Given the description of an element on the screen output the (x, y) to click on. 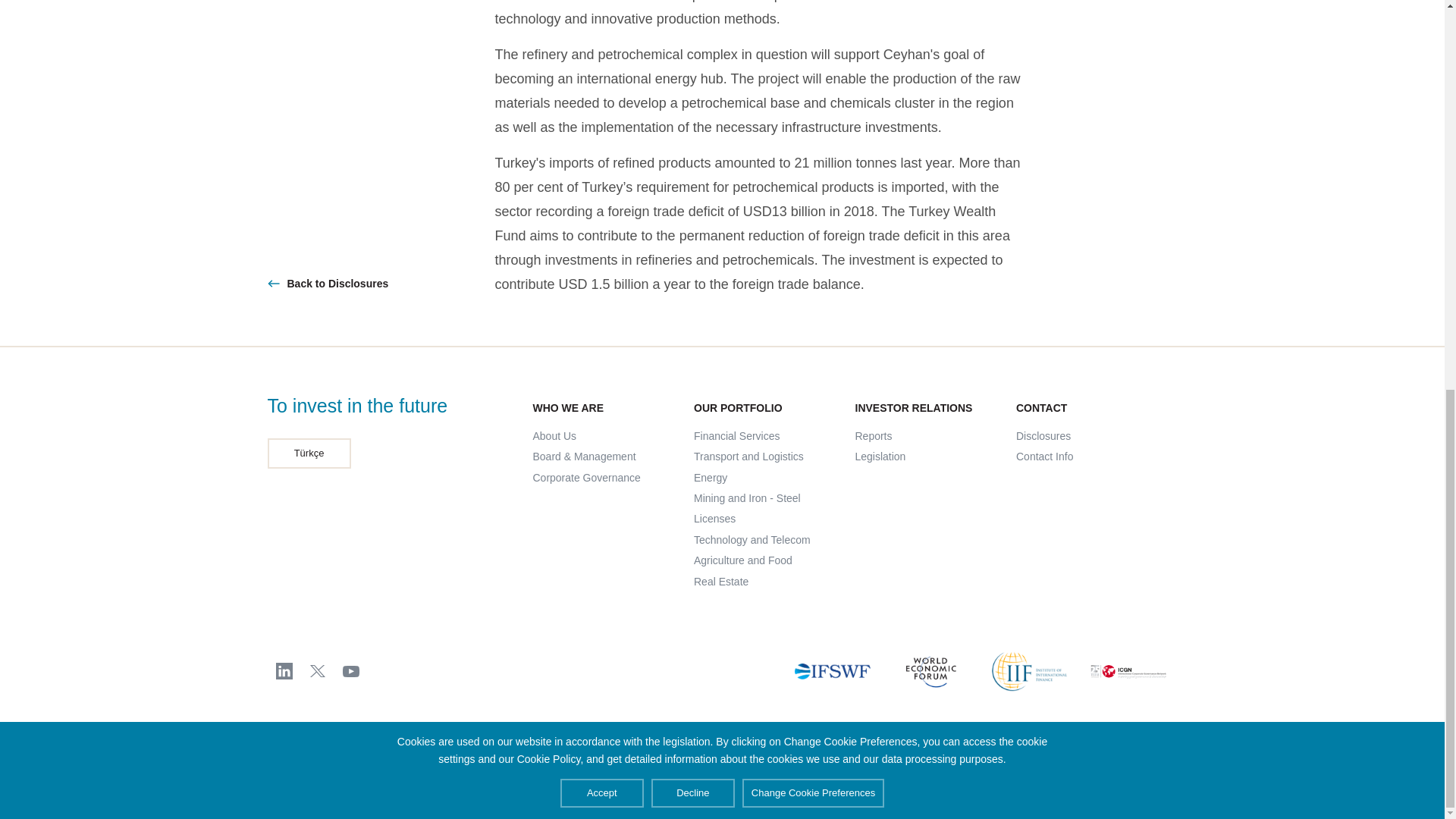
youtube (349, 670)
Change Cookie Preferences (812, 51)
Back to Disclosures (380, 283)
Decline (692, 51)
Accept (601, 51)
linkedin (283, 670)
